Given the description of an element on the screen output the (x, y) to click on. 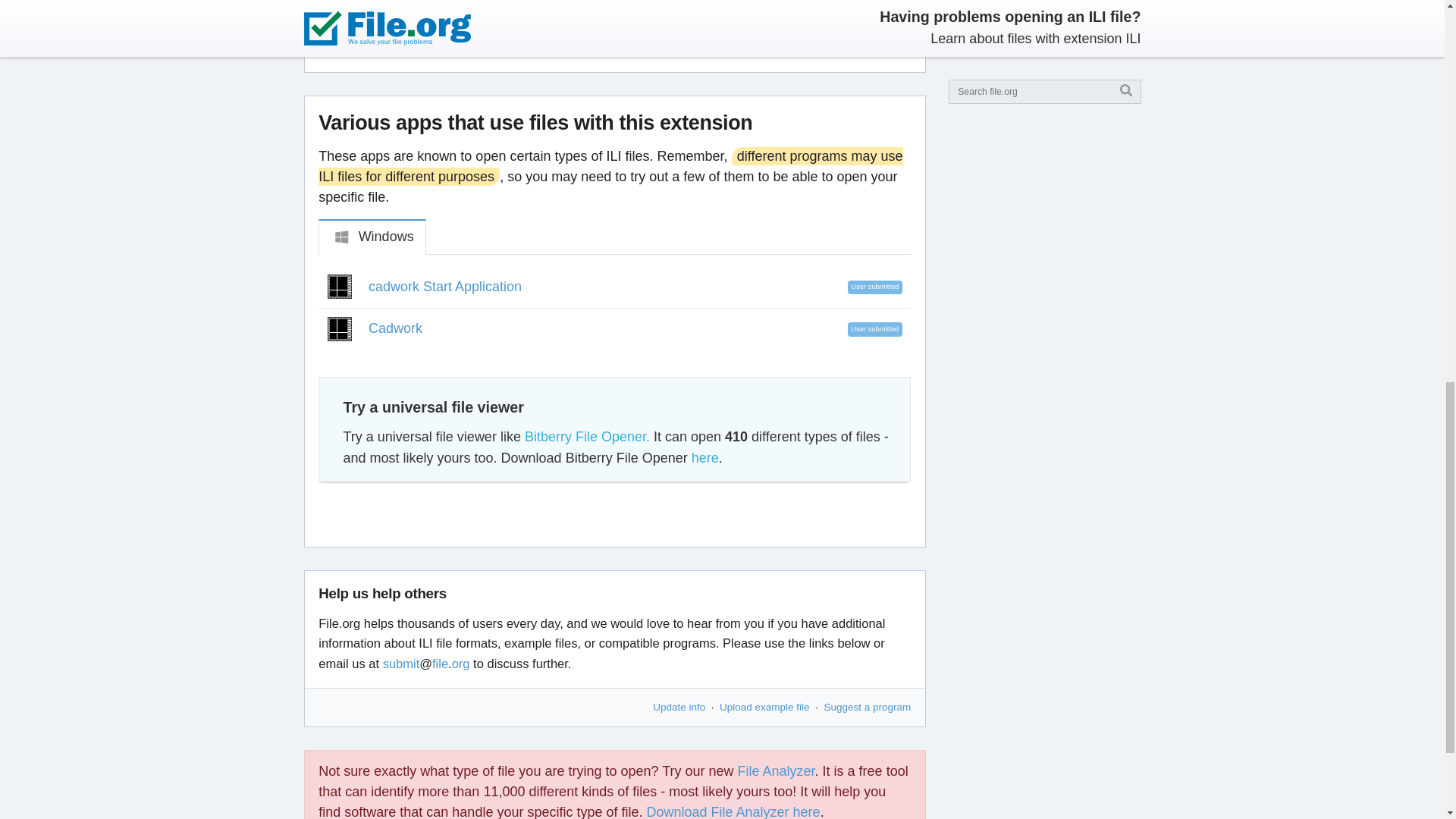
Update info (678, 706)
Download File Analyzer here (732, 811)
Upload example file (764, 706)
Cadwork (395, 328)
cadwork Start Application (444, 286)
here (705, 457)
File Analyzer (776, 770)
Bitberry File Opener. (586, 436)
Suggest a program (867, 706)
